Given the description of an element on the screen output the (x, y) to click on. 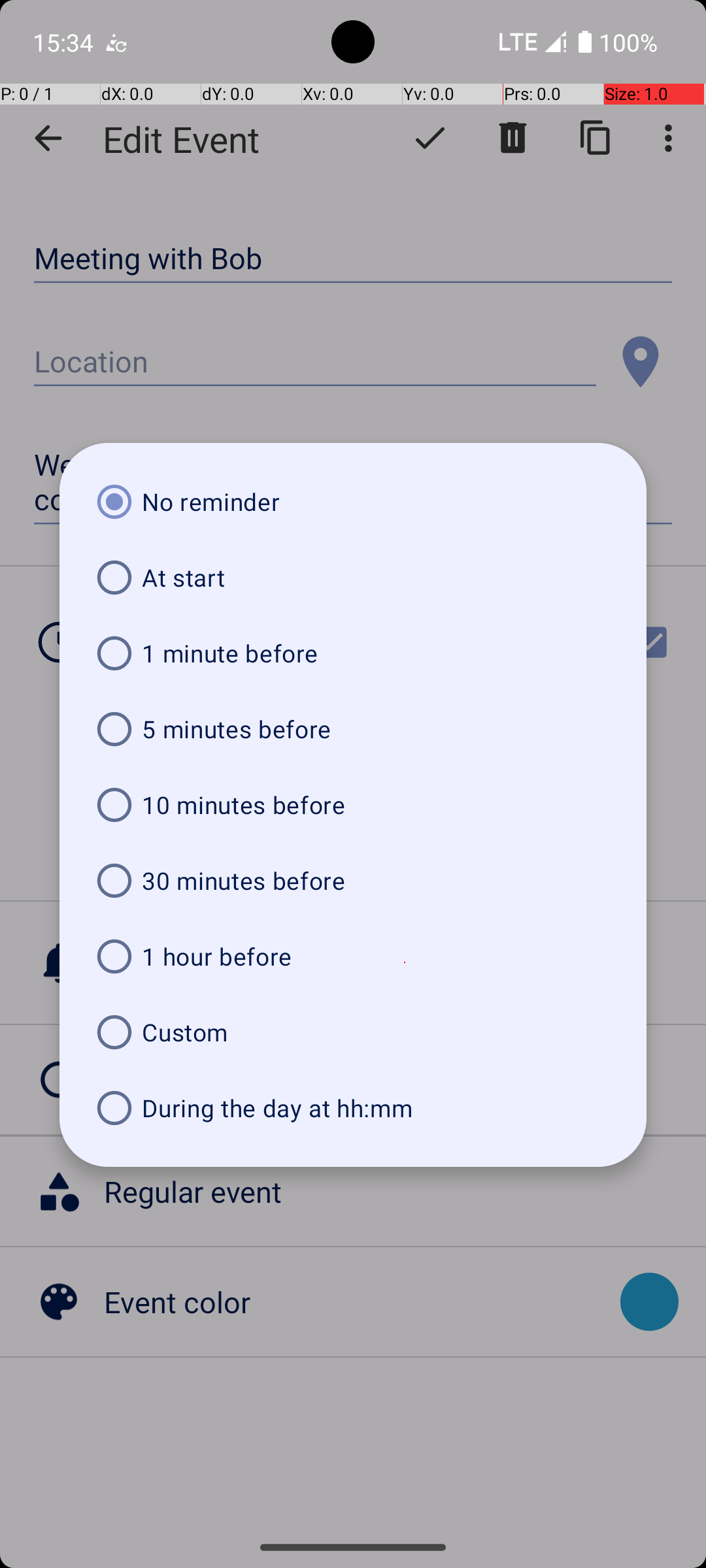
At start Element type: android.widget.RadioButton (352, 577)
1 minute before Element type: android.widget.RadioButton (352, 653)
5 minutes before Element type: android.widget.RadioButton (352, 729)
10 minutes before Element type: android.widget.RadioButton (352, 804)
30 minutes before Element type: android.widget.RadioButton (352, 880)
1 hour before Element type: android.widget.RadioButton (352, 956)
Custom Element type: android.widget.RadioButton (352, 1032)
During the day at hh:mm Element type: android.widget.RadioButton (352, 1107)
